Given the description of an element on the screen output the (x, y) to click on. 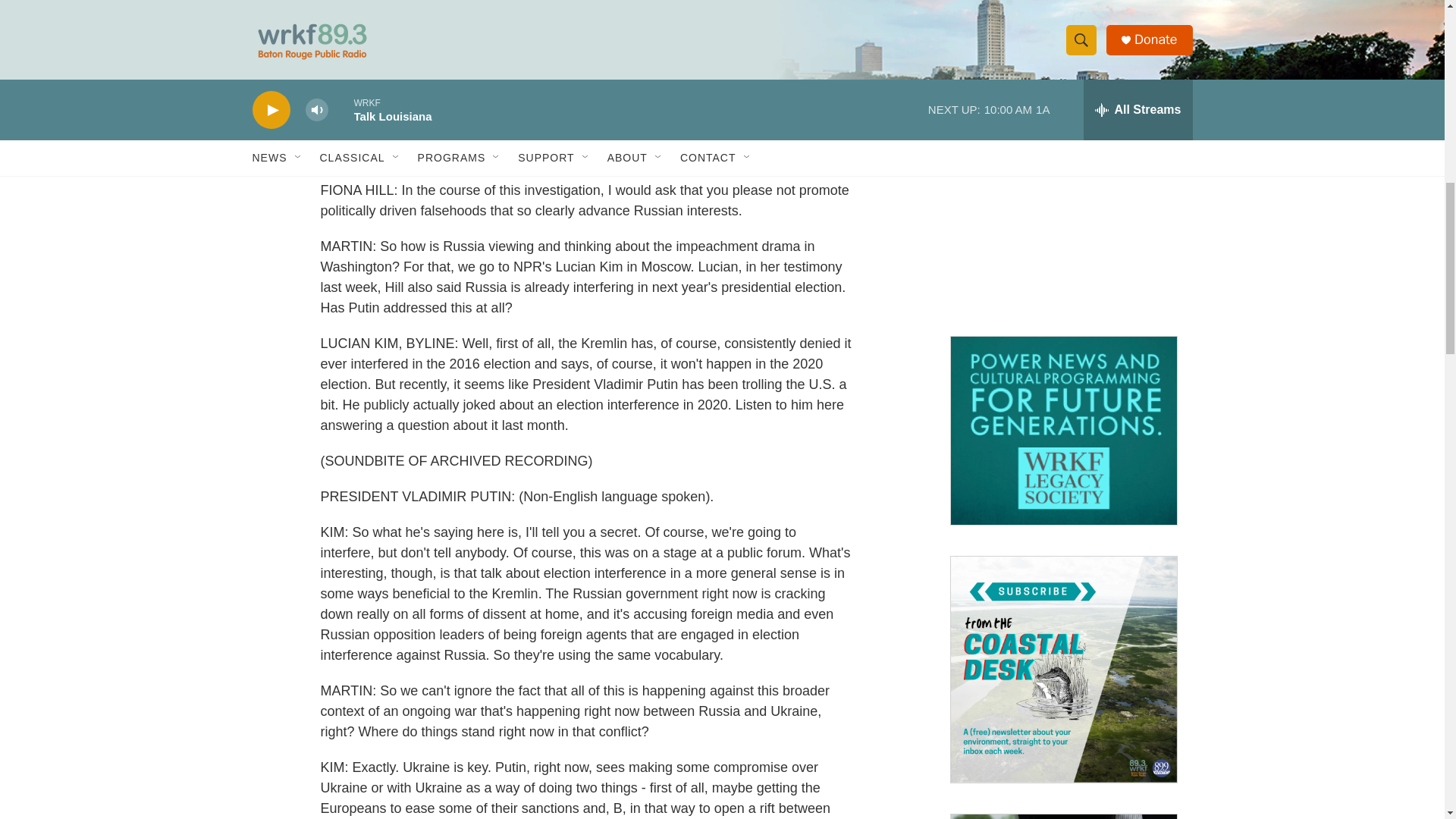
3rd party ad content (1062, 210)
